Given the description of an element on the screen output the (x, y) to click on. 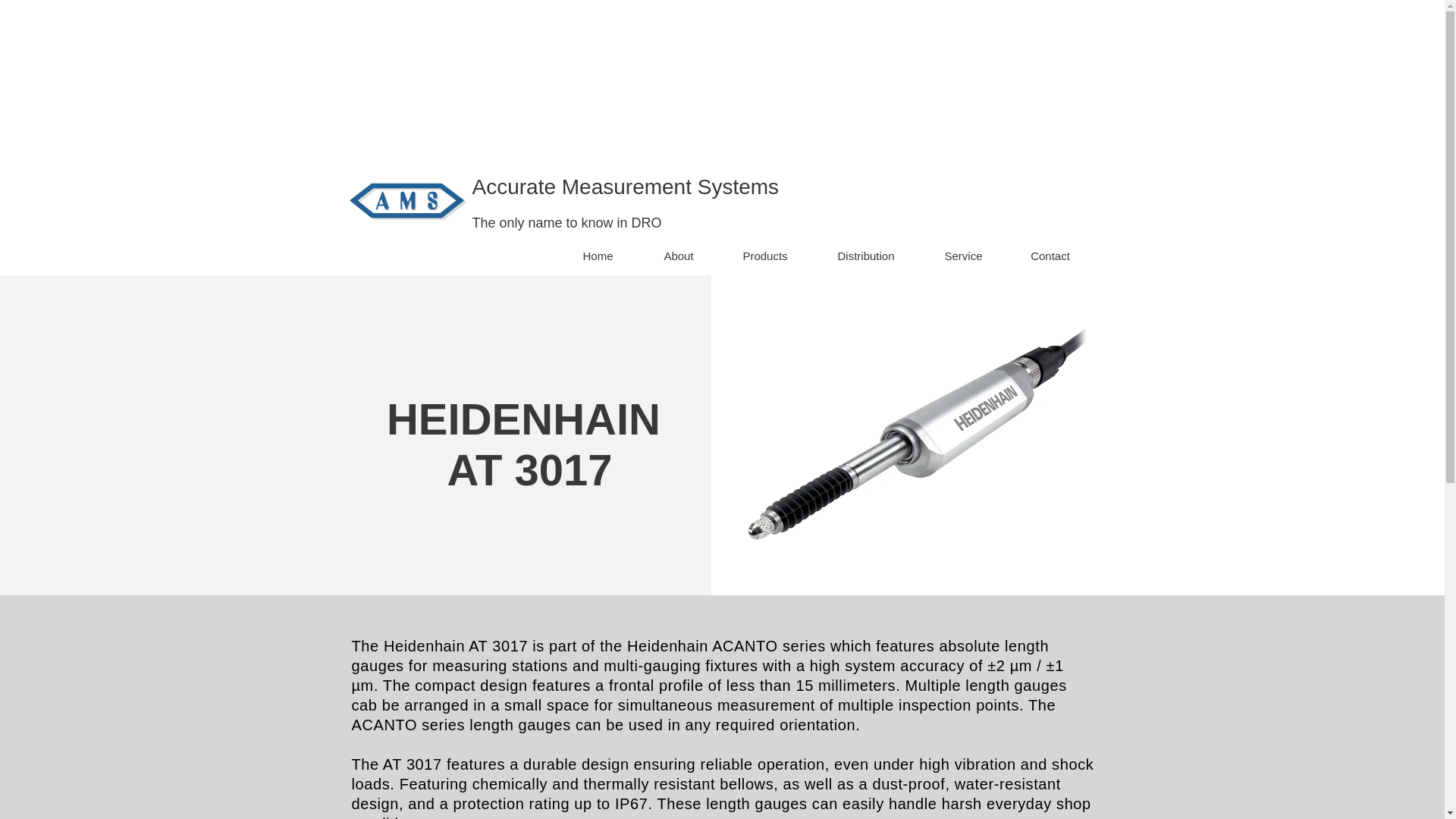
Home (597, 256)
Distribution (865, 256)
Contact (1050, 256)
Service (963, 256)
Products (765, 256)
Accurate Measurement Systems (624, 187)
About (678, 256)
